Given the description of an element on the screen output the (x, y) to click on. 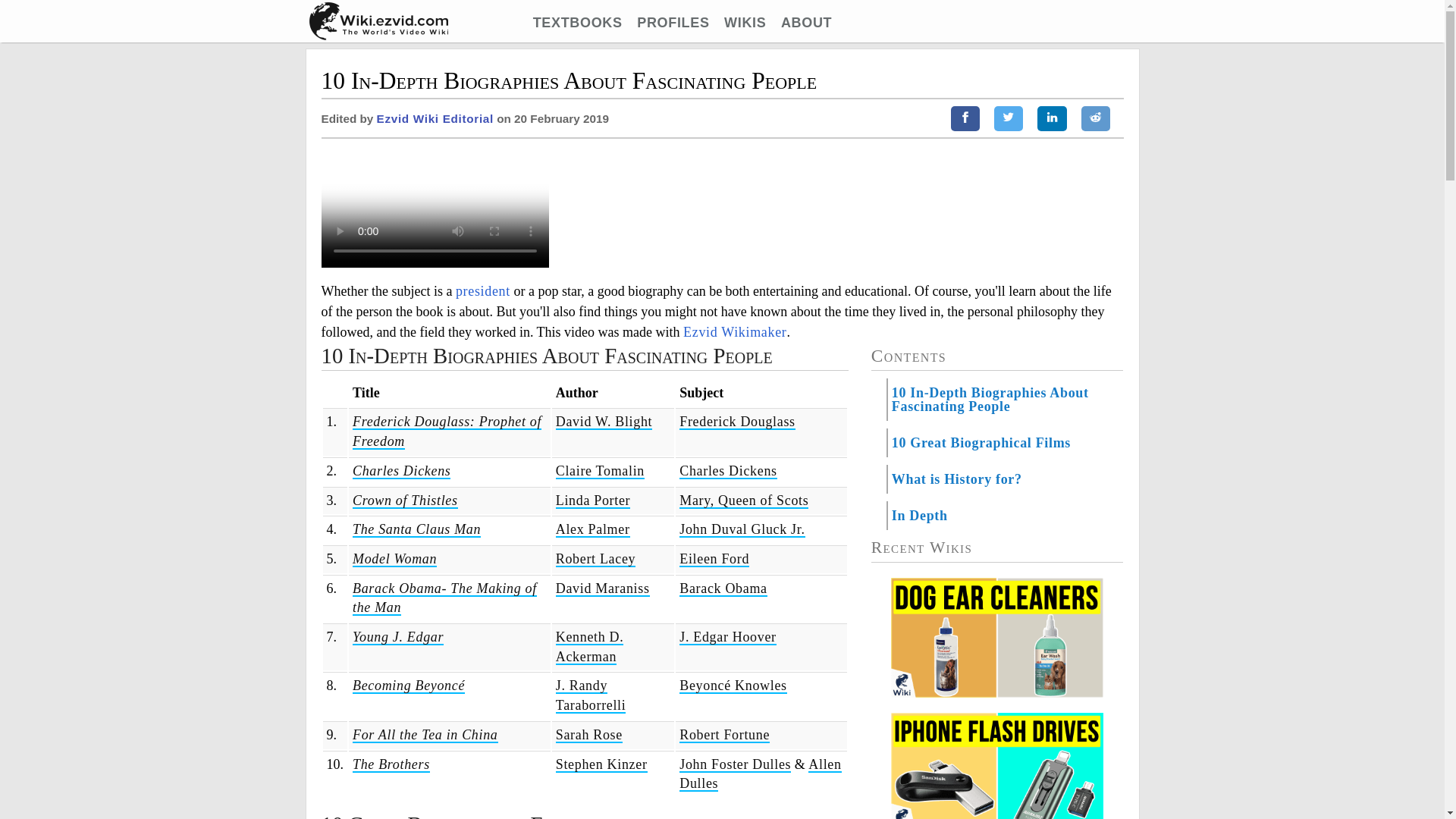
J. Edgar Hoover (727, 637)
Charles Dickens (727, 471)
Alex Palmer (593, 529)
Crown of Thistles (405, 500)
Frederick Douglass: Prophet of Freedom (446, 431)
WIKIS (744, 22)
Barack Obama- The Making of the Man (444, 598)
ABOUT (805, 22)
Claire Tomalin (600, 471)
Model Woman (394, 559)
John Duval Gluck Jr. (742, 529)
Barack Obama (723, 588)
PROFILES (673, 22)
president (483, 290)
Frederick Douglass (736, 421)
